Given the description of an element on the screen output the (x, y) to click on. 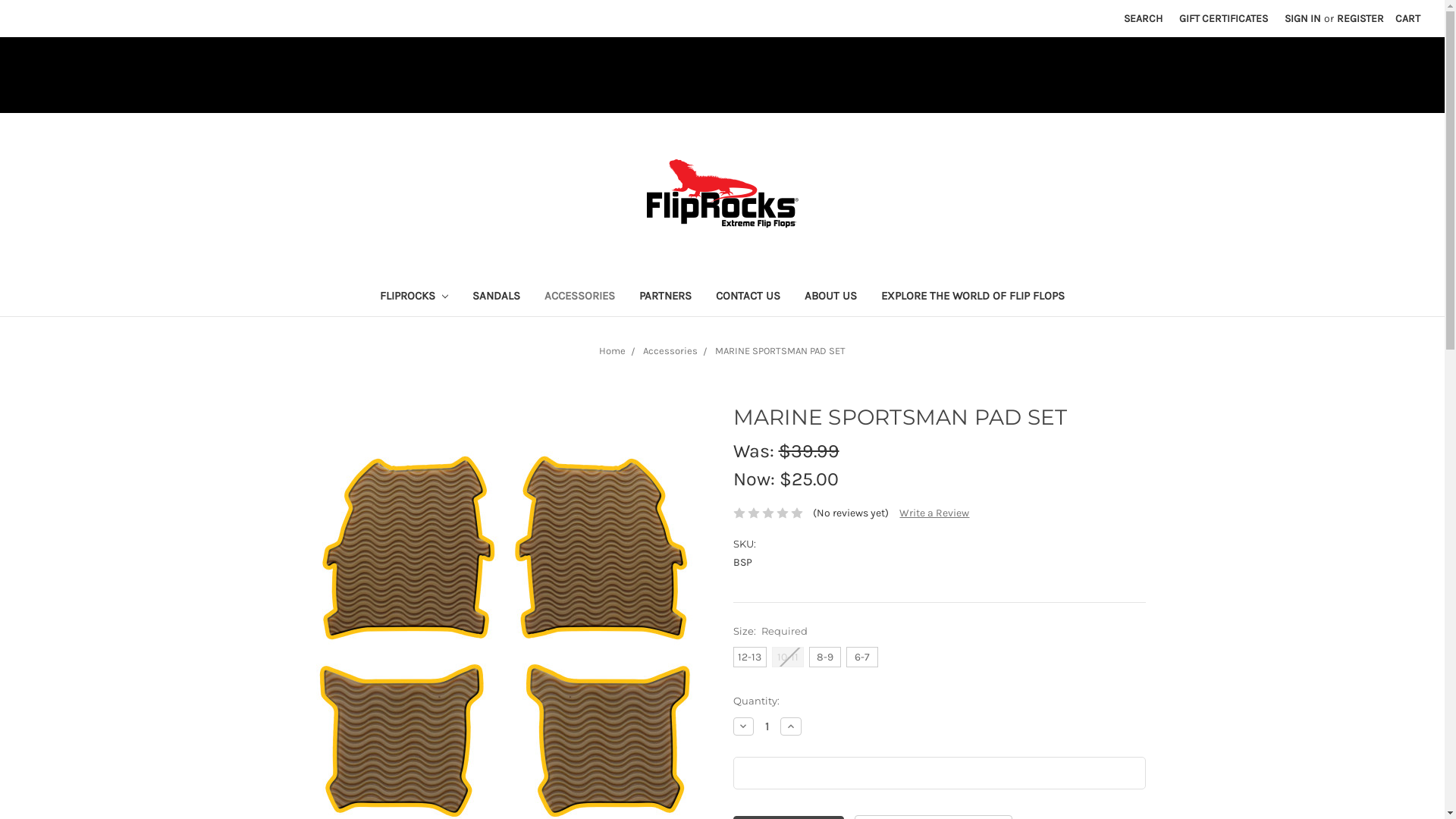
REGISTER Element type: text (1360, 18)
EXPLORE THE WORLD OF FLIP FLOPS Element type: text (972, 297)
Decrease Quantity: Element type: text (742, 726)
SANDALS Element type: text (496, 297)
SIGN IN Element type: text (1302, 18)
Write a Review Element type: text (934, 512)
GIFT CERTIFICATES Element type: text (1223, 18)
Home Element type: text (612, 350)
SEARCH Element type: text (1142, 18)
FlipRocks Element type: hover (721, 193)
CART Element type: text (1407, 18)
Accessories Element type: text (670, 350)
Increase Quantity: Element type: text (790, 726)
ABOUT US Element type: text (830, 297)
ACCESSORIES Element type: text (579, 297)
PARTNERS Element type: text (665, 297)
FLIPROCKS Element type: text (413, 297)
CONTACT US Element type: text (747, 297)
